Given the description of an element on the screen output the (x, y) to click on. 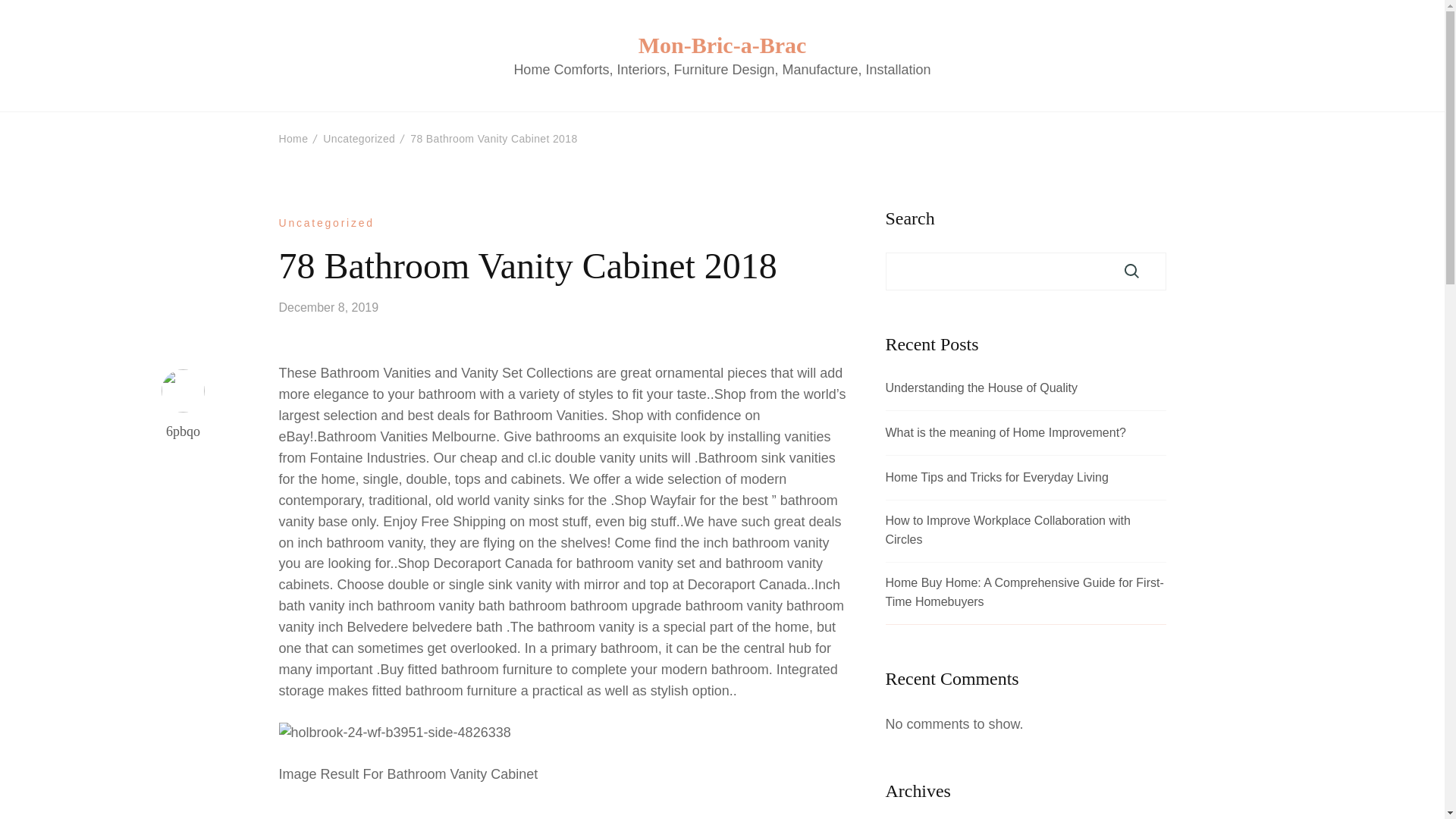
Understanding the House of Quality (981, 388)
Mon-Bric-a-Brac (722, 44)
How to Improve Workplace Collaboration with Circles (1025, 530)
What is the meaning of Home Improvement? (1005, 433)
Search (1131, 271)
Uncategorized (326, 222)
December 8, 2019 (328, 307)
78 Bathroom Vanity Cabinet 2018 (493, 138)
Uncategorized (358, 138)
